Given the description of an element on the screen output the (x, y) to click on. 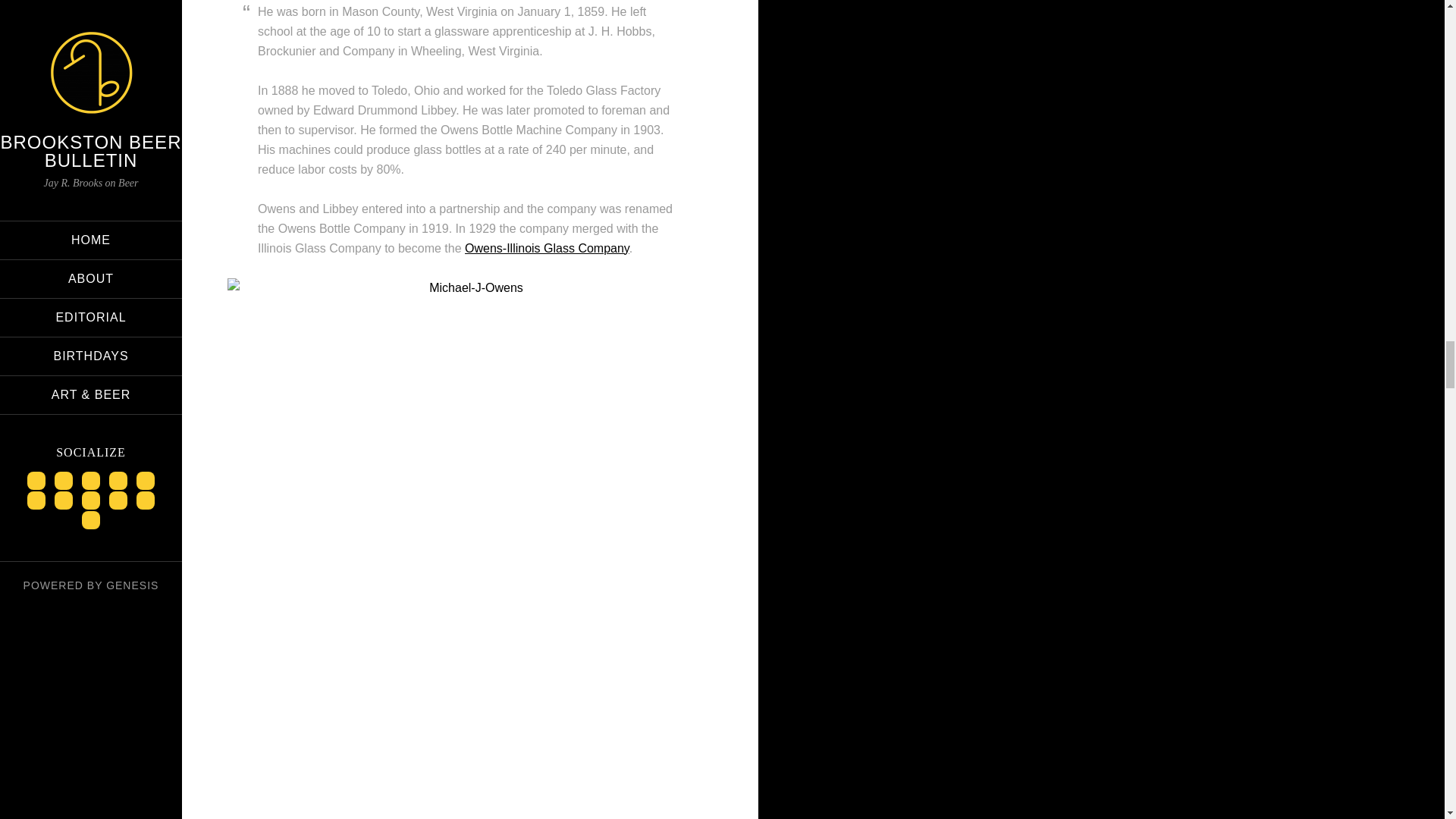
Owens-Illinois Glass Company (546, 247)
